Given the description of an element on the screen output the (x, y) to click on. 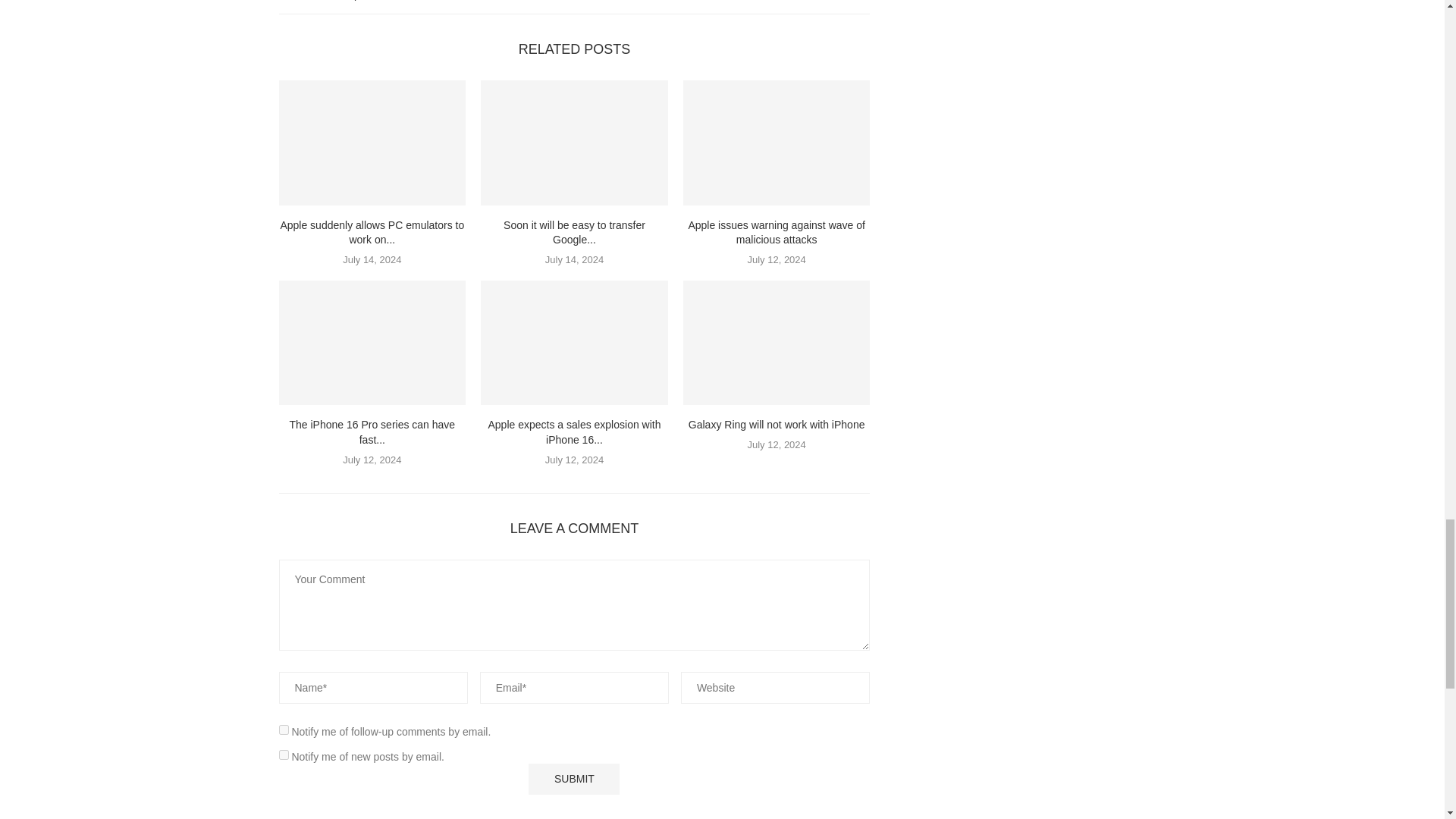
Submit (574, 778)
The iPhone 16 Pro series can have fast charging up to 40W (372, 342)
Apple suddenly allows PC emulators to work on iPhone (372, 142)
Galaxy Ring will not work with iPhone (776, 342)
subscribe (283, 755)
Apple issues warning against wave of malicious attacks (776, 142)
subscribe (283, 729)
